Given the description of an element on the screen output the (x, y) to click on. 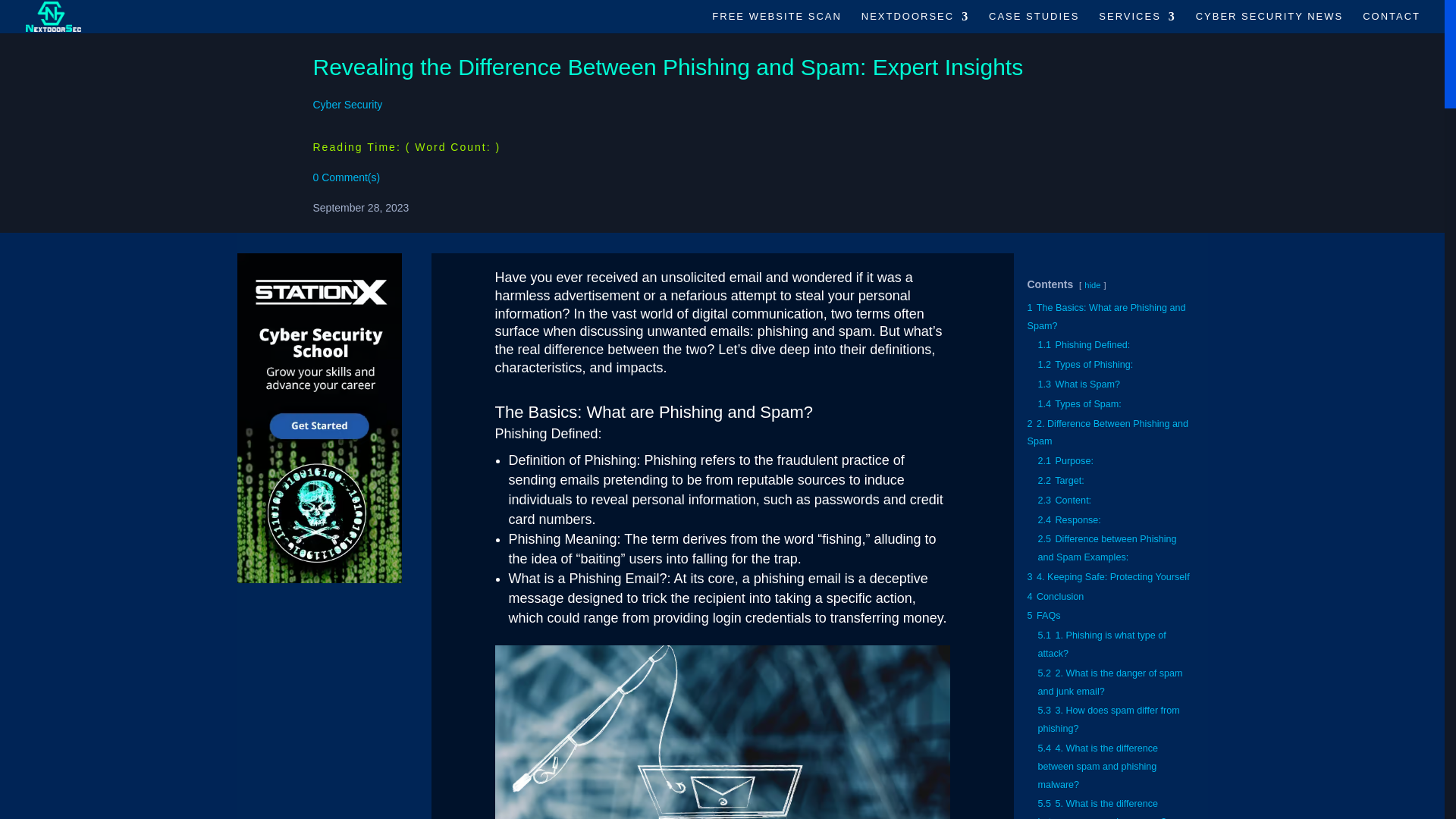
CASE STUDIES (1033, 22)
hide (1092, 284)
3 4. Keeping Safe: Protecting Yourself (1107, 576)
1.4 Types of Spam: (1078, 403)
2.2 Target: (1059, 480)
2.4 Response: (1068, 519)
CYBER SECURITY NEWS (1269, 22)
4 Conclusion (1054, 596)
2 2. Difference Between Phishing and Spam (1107, 432)
2.5 Difference between Phishing and Spam Examples: (1106, 547)
1.2 Types of Phishing: (1084, 364)
1.1 Phishing Defined: (1082, 344)
Cyber Security (347, 104)
2.3 Content: (1063, 500)
CONTACT (1391, 22)
